Given the description of an element on the screen output the (x, y) to click on. 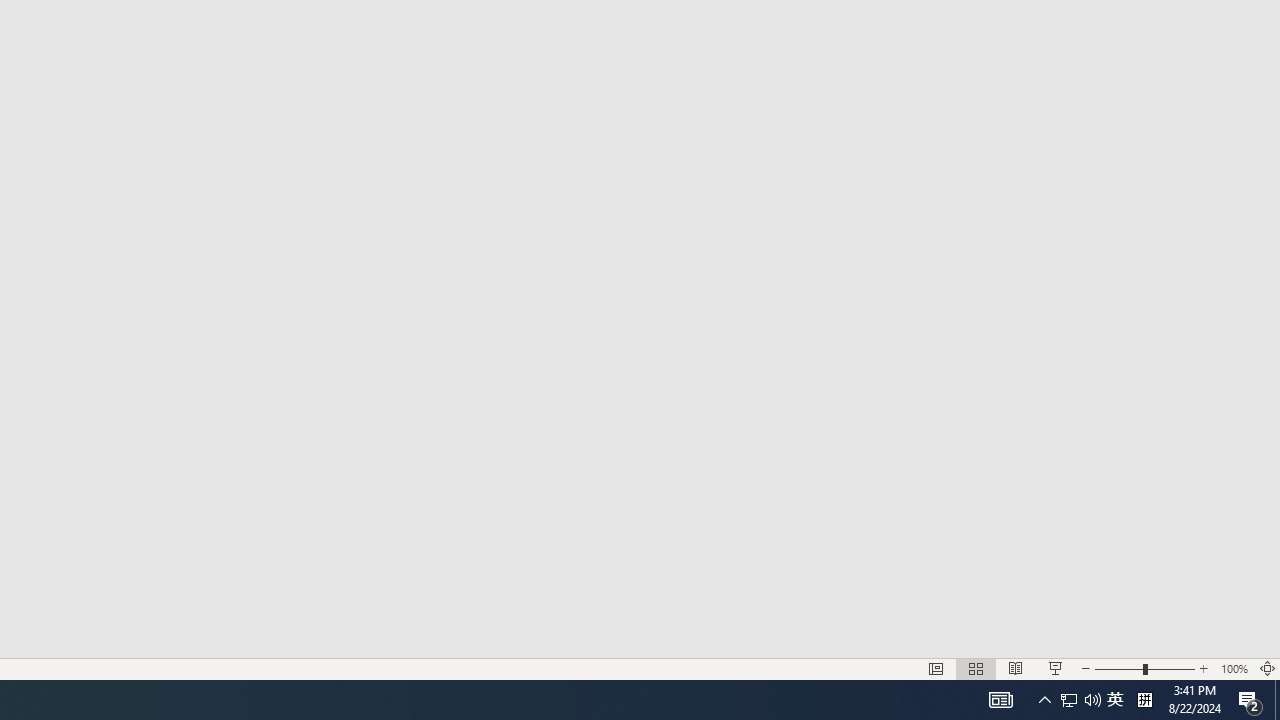
Zoom 100% (1234, 668)
